Given the description of an element on the screen output the (x, y) to click on. 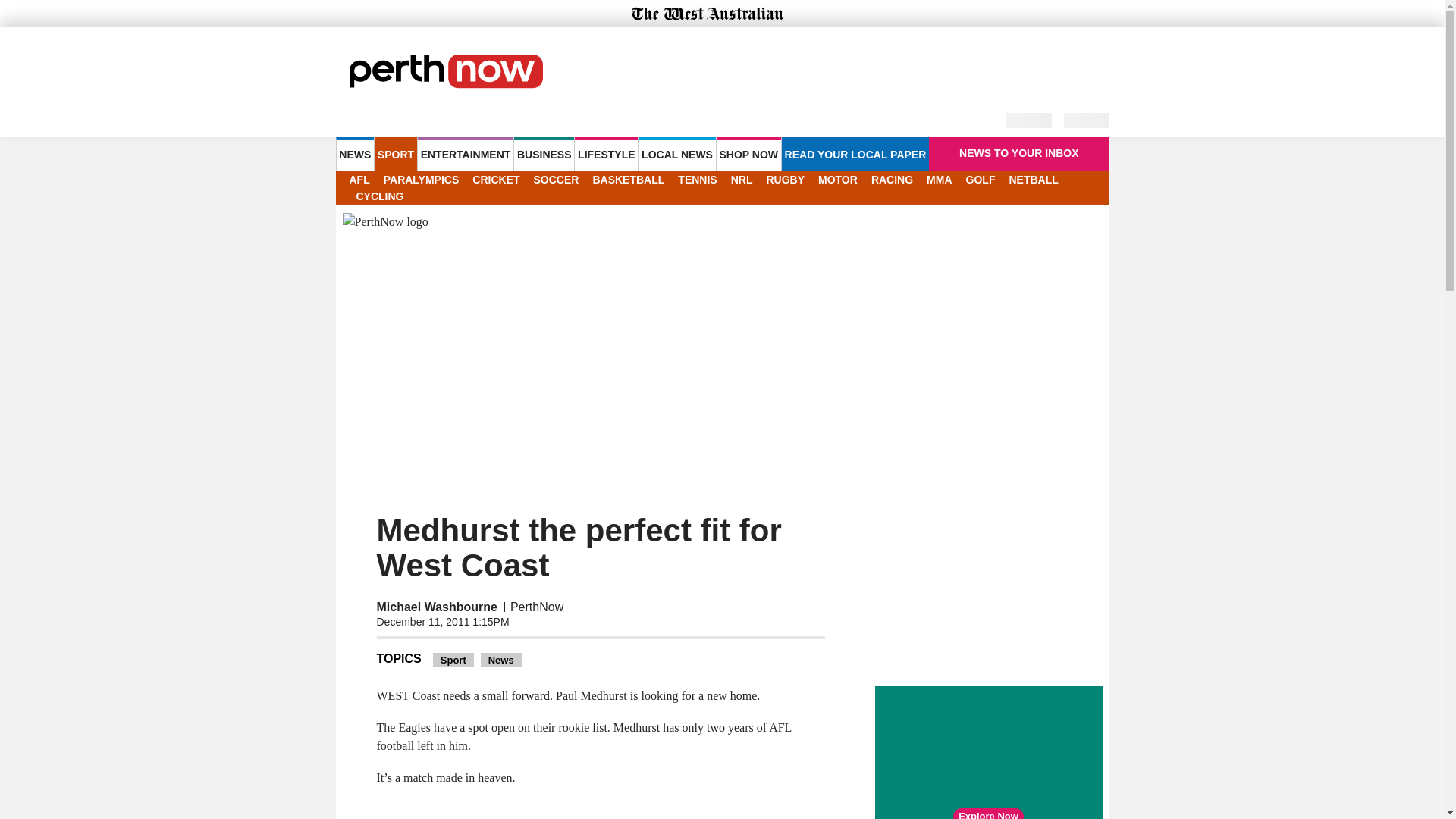
BUSINESS (543, 153)
NEWS (354, 153)
SPORT (395, 153)
ENTERTAINMENT (465, 153)
